Given the description of an element on the screen output the (x, y) to click on. 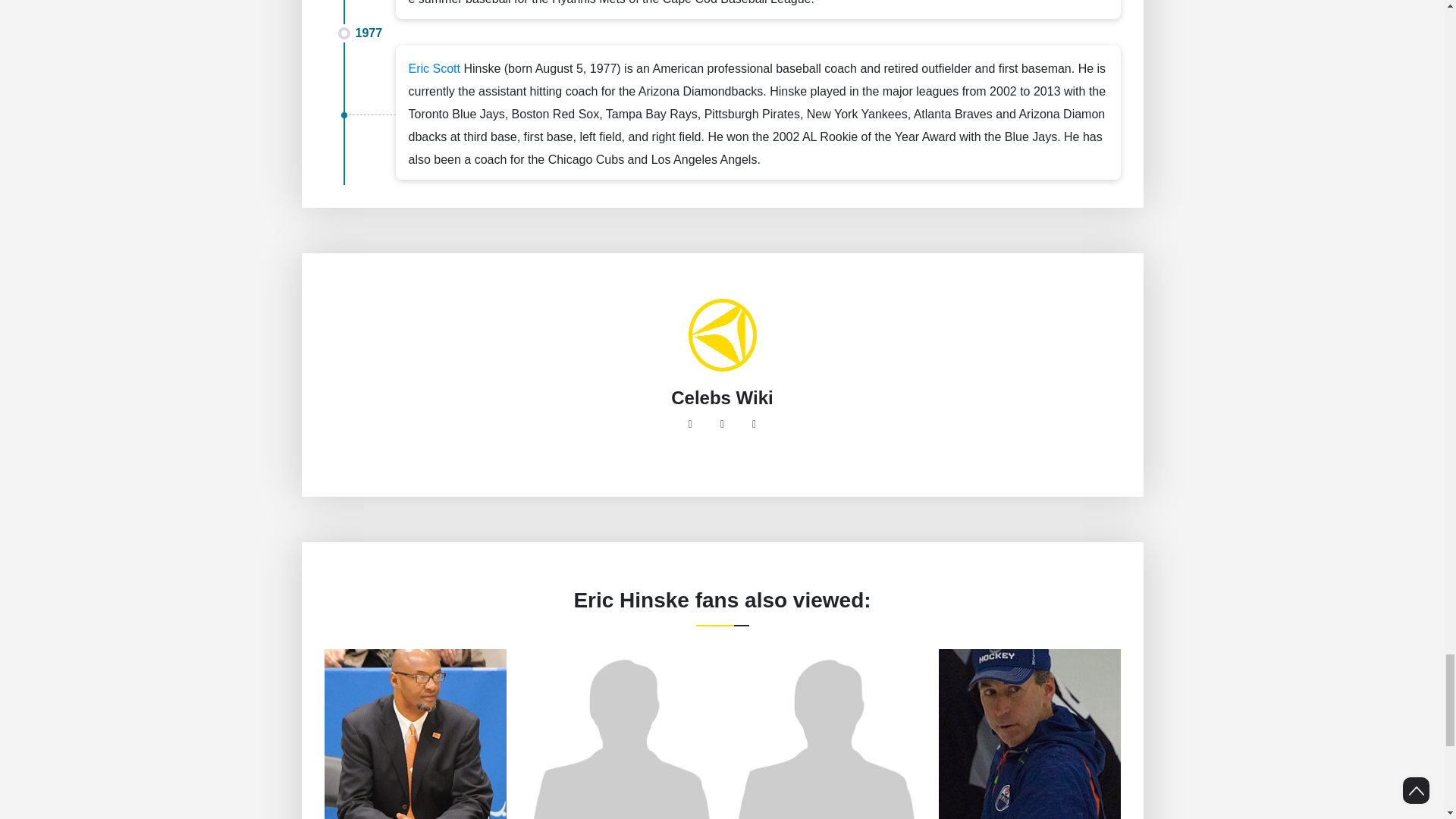
Celebs Wiki (722, 397)
Eric Scott (433, 68)
